Given the description of an element on the screen output the (x, y) to click on. 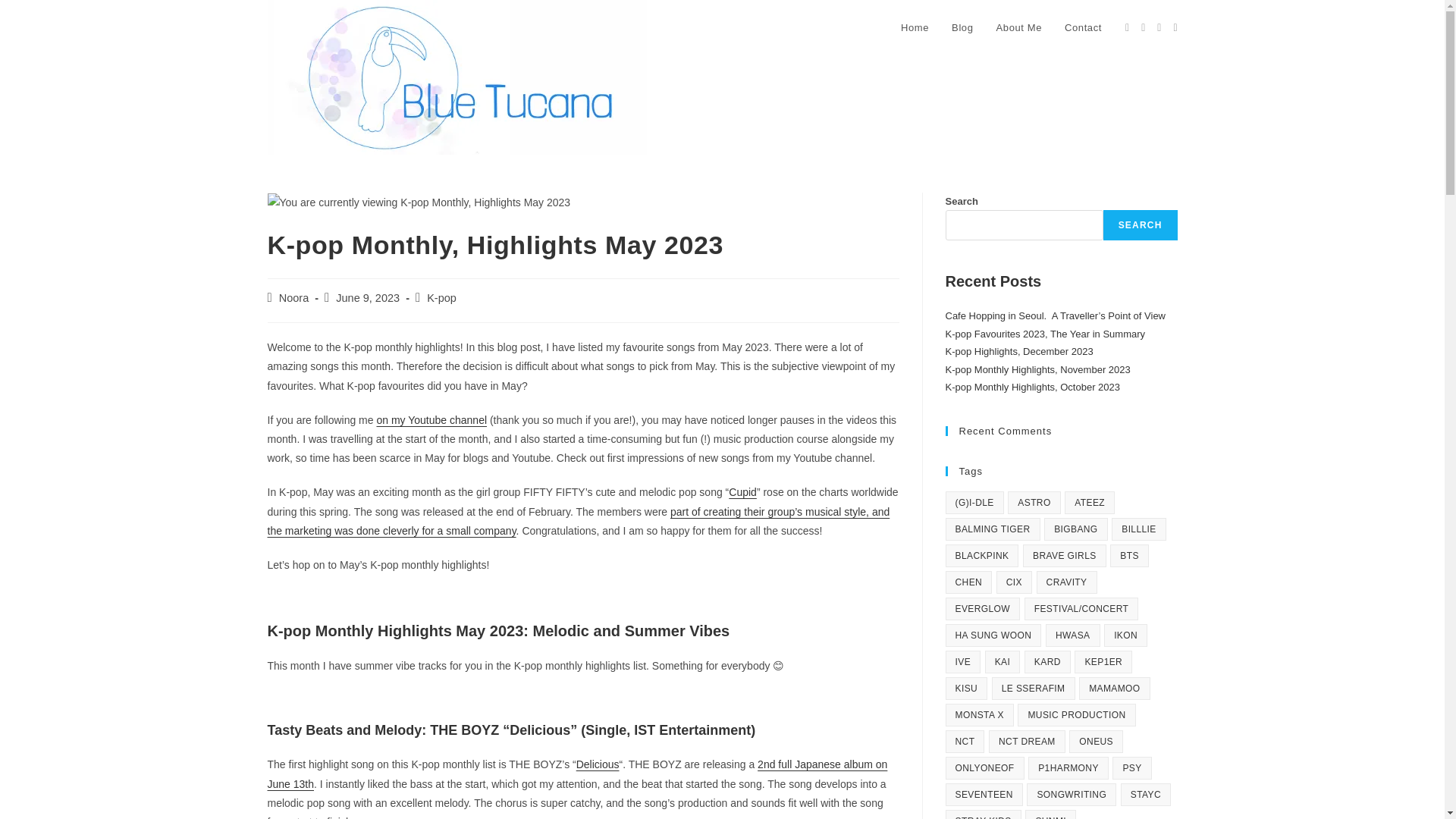
on my Youtube channel (430, 419)
Posts by Noora (293, 297)
About Me (1018, 28)
Cupid (743, 491)
Noora (293, 297)
Home (914, 28)
K-pop (441, 297)
2nd full Japanese album on June 13th (576, 773)
Delicious (598, 764)
Contact (1082, 28)
